Given the description of an element on the screen output the (x, y) to click on. 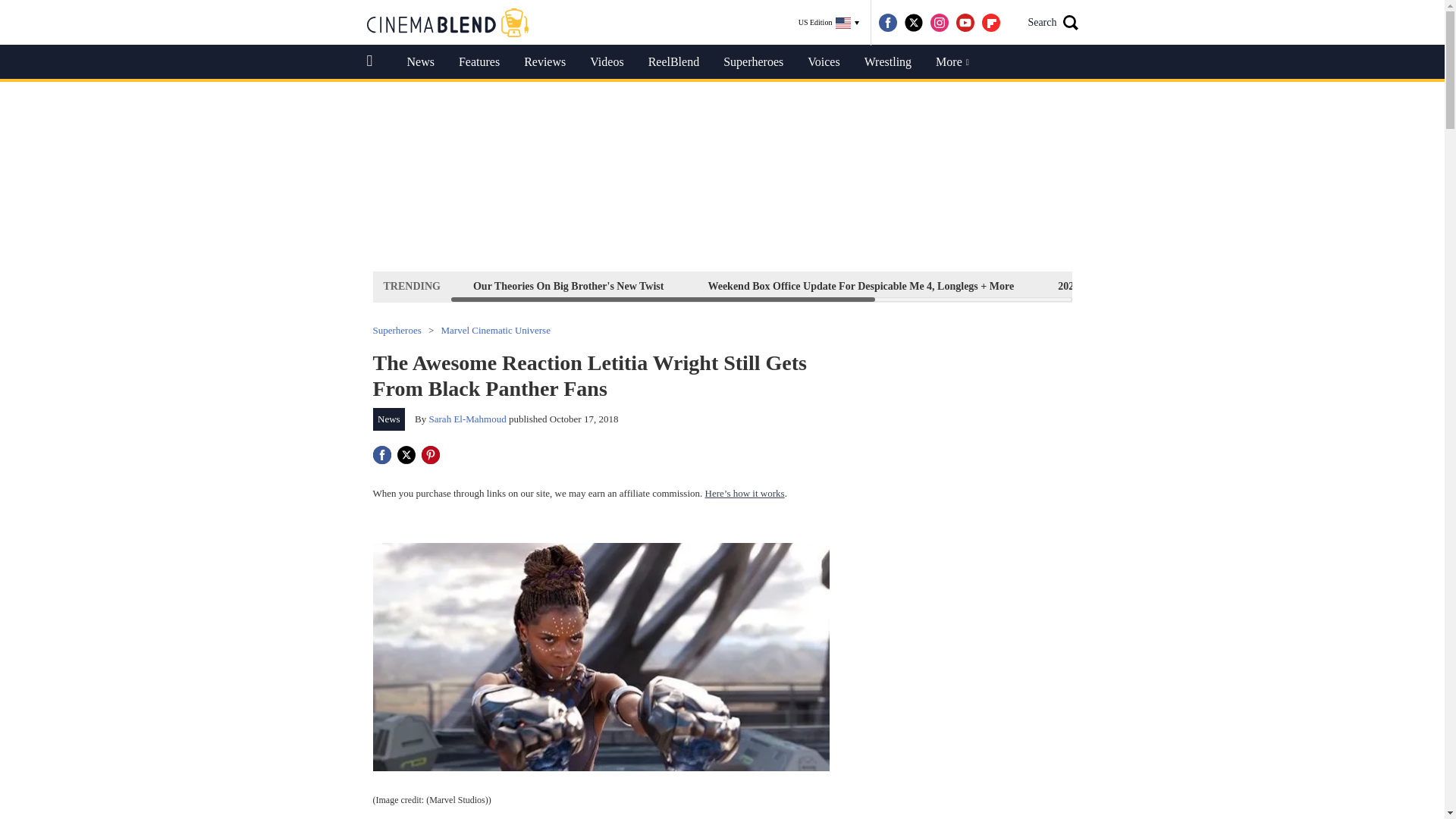
Superheroes (752, 61)
US Edition (828, 22)
News (419, 61)
Wrestling (887, 61)
ReelBlend (673, 61)
Voices (822, 61)
100 Best Sitcoms Of All Time (1272, 286)
Our Theories On Big Brother's New Twist (568, 286)
Videos (606, 61)
Marvel Cinematic Universe (495, 329)
Superheroes (397, 329)
Features (479, 61)
2024 Upcoming Movies (1110, 286)
Reviews (545, 61)
